Given the description of an element on the screen output the (x, y) to click on. 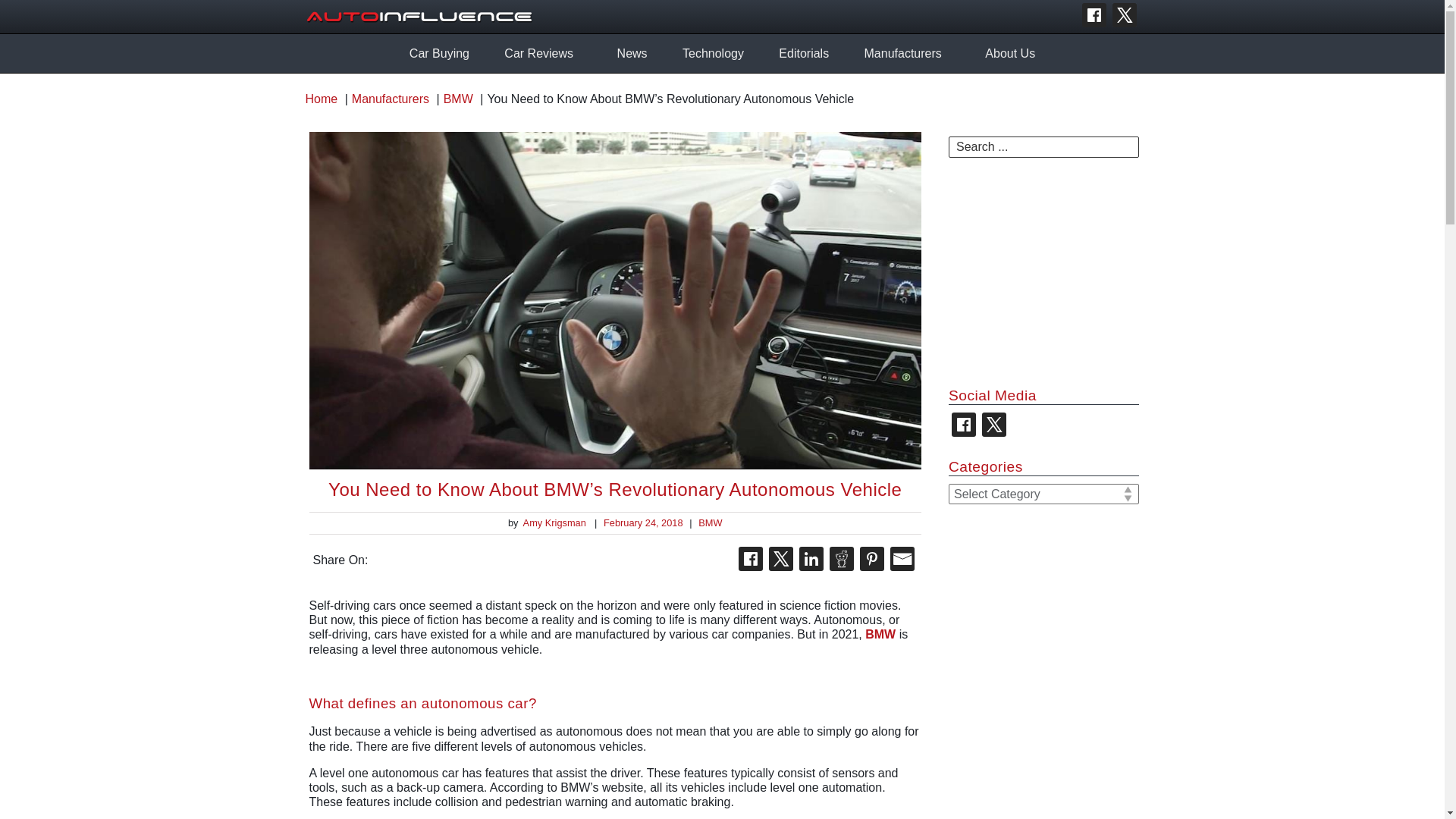
Editorials (803, 53)
Car Reviews (538, 53)
Car Reviews (538, 53)
About Auto Influence (1010, 53)
Share On LinkedIn (811, 558)
Manufacturers (902, 53)
Editorials (803, 53)
Share To Email (901, 558)
Technology (713, 53)
Share On Pinterest (871, 558)
